Given the description of an element on the screen output the (x, y) to click on. 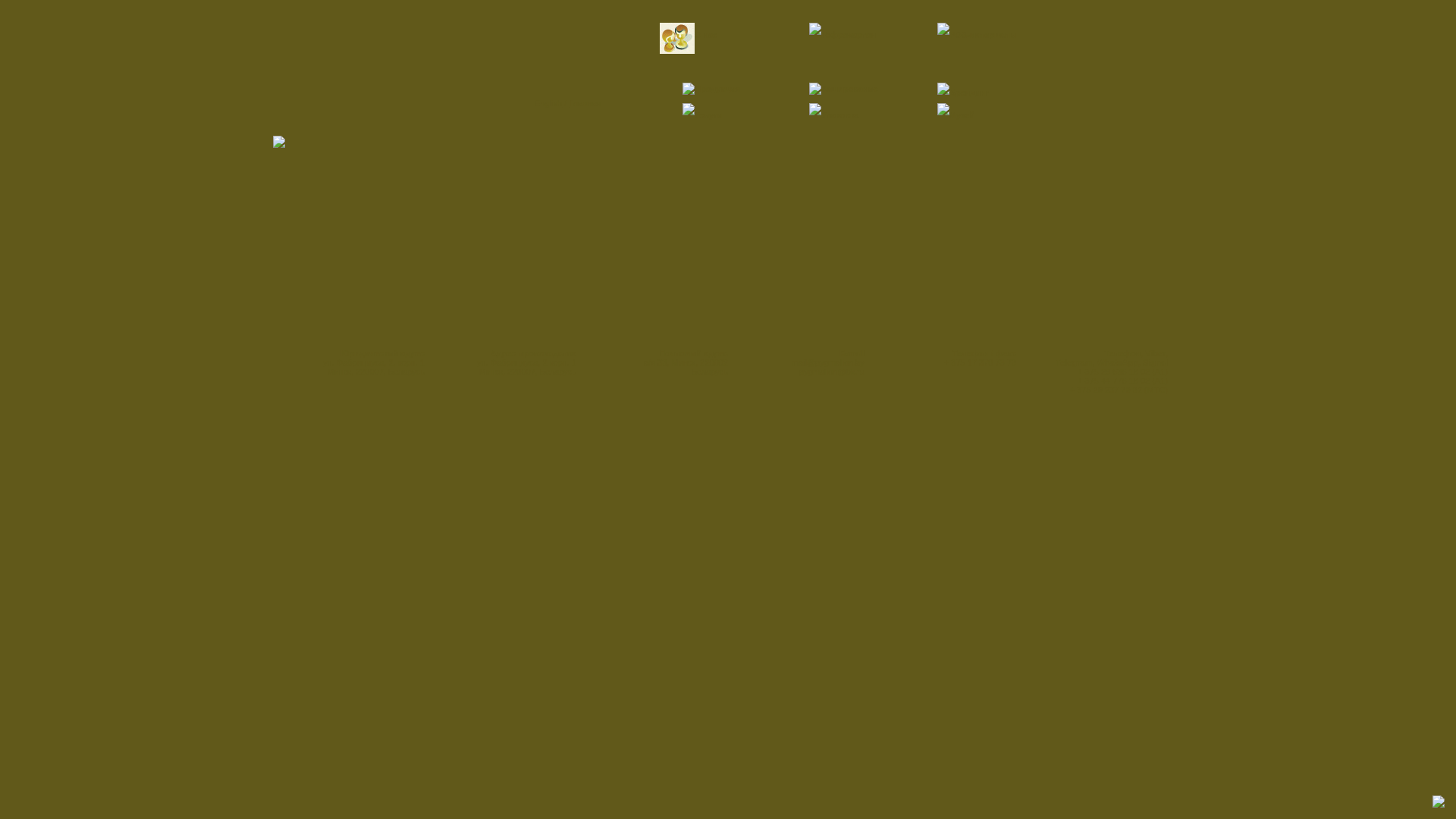
+ 375 44 776 18 02 (A1) Element type: text (1122, 380)
+ 375 29 636 18 02 (A1) Element type: text (1122, 371)
mail@pygmalion.by Element type: text (827, 362)
pygmalion@bk.ru Element type: text (831, 371)
English Element type: text (547, 102)
